Given the description of an element on the screen output the (x, y) to click on. 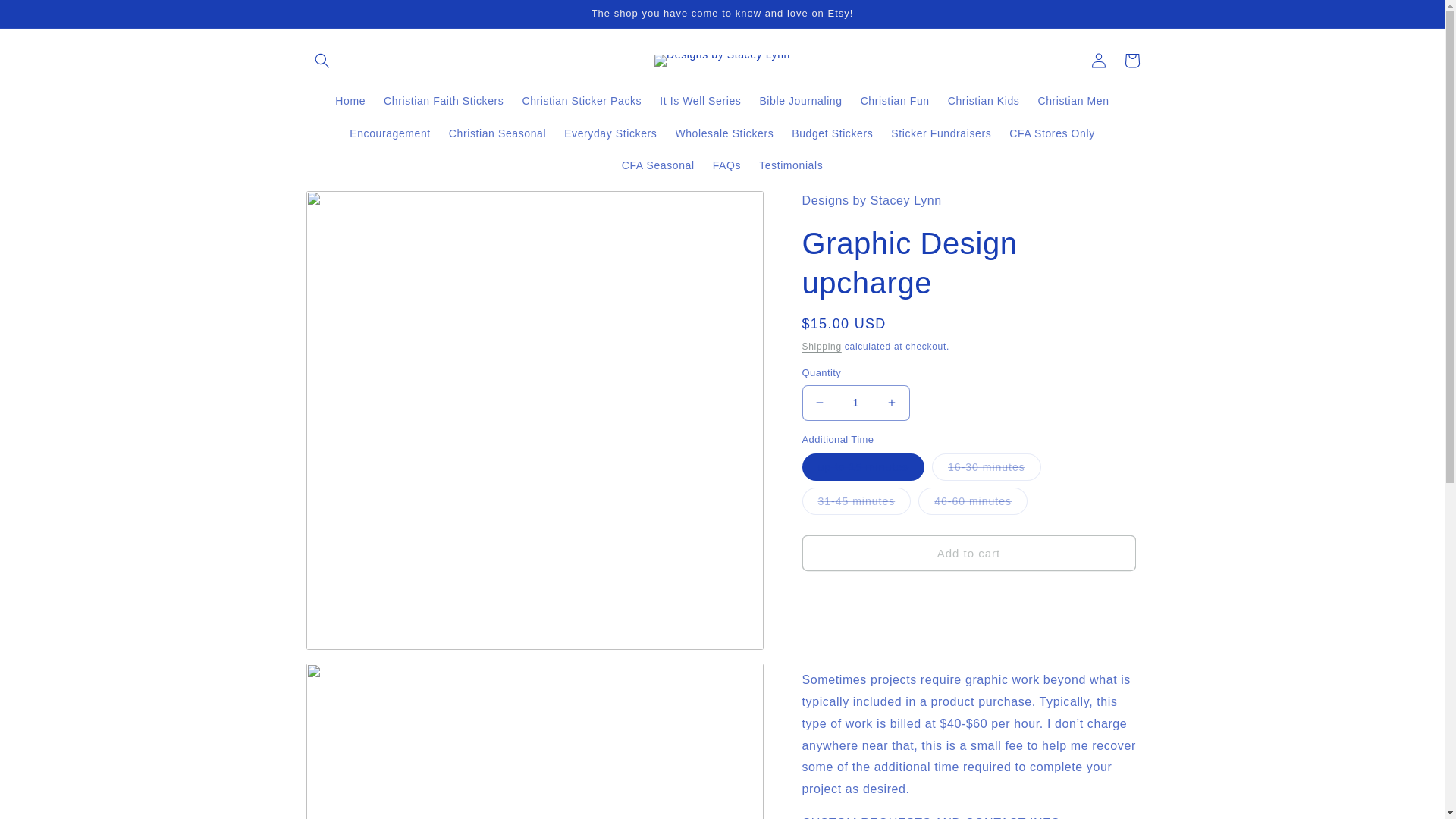
Christian Faith Stickers (443, 101)
Christian Men (1072, 101)
Wholesale Stickers (724, 133)
Skip to content (45, 17)
1 (856, 402)
Budget Stickers (832, 133)
It Is Well Series (699, 101)
Everyday Stickers (609, 133)
Christian Sticker Packs (581, 101)
Encouragement (389, 133)
Christian Kids (984, 101)
